Given the description of an element on the screen output the (x, y) to click on. 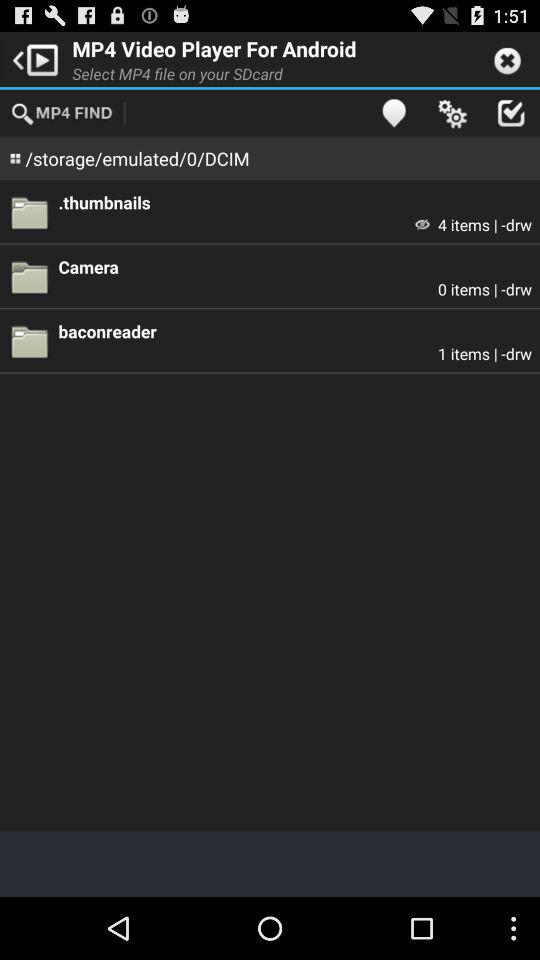
flip until .thumbnails item (295, 201)
